Given the description of an element on the screen output the (x, y) to click on. 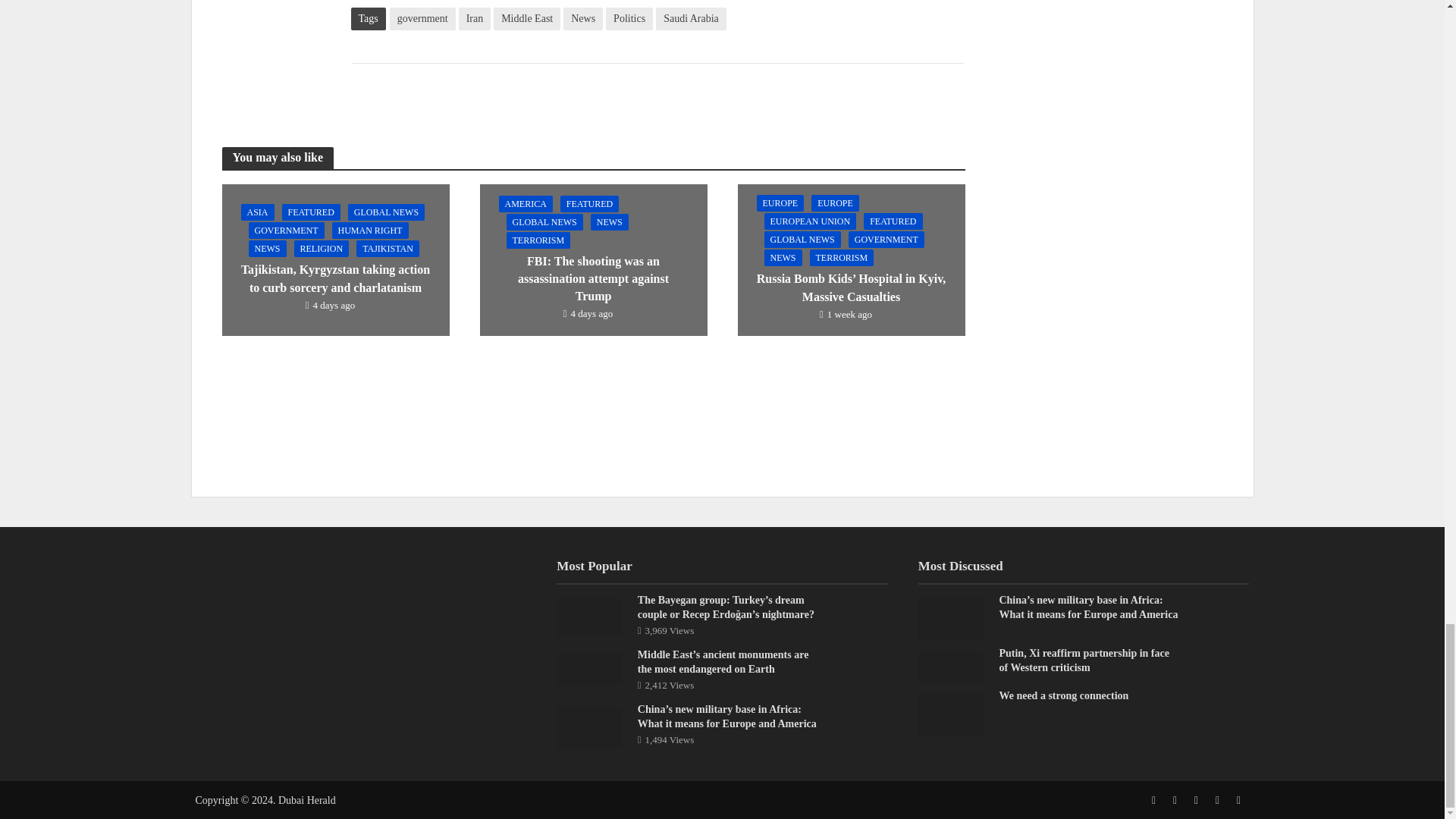
FBI: The shooting was an assassination attempt against Trump (592, 257)
